Given the description of an element on the screen output the (x, y) to click on. 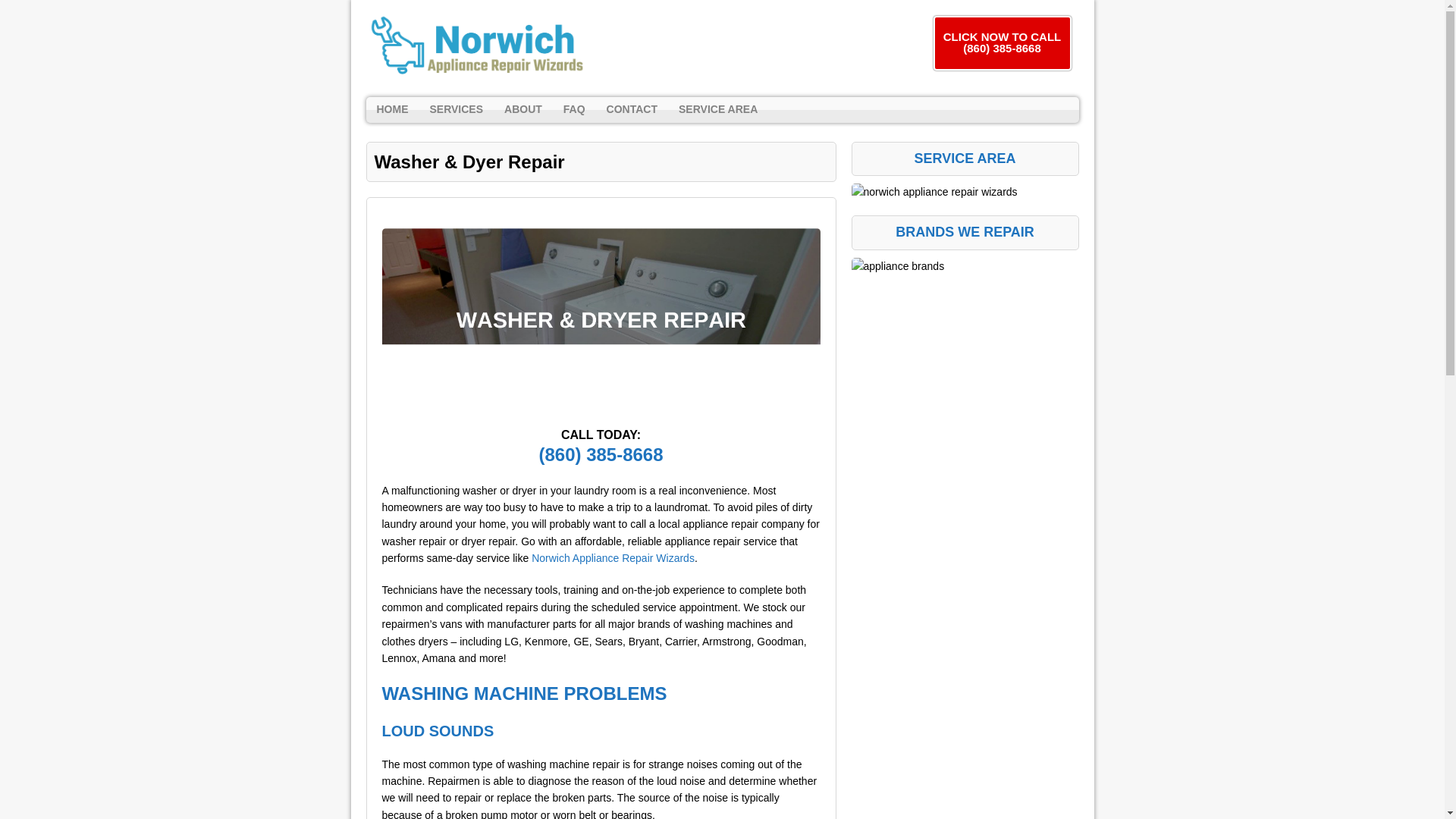
HOME (392, 109)
SERVICES (456, 109)
CONTACT (631, 109)
SERVICE AREA (718, 109)
Norwich Appliance Repair Wizards (612, 558)
ABOUT (523, 109)
Norwich Appliance Repair Wizards (474, 47)
FAQ (574, 109)
